Given the description of an element on the screen output the (x, y) to click on. 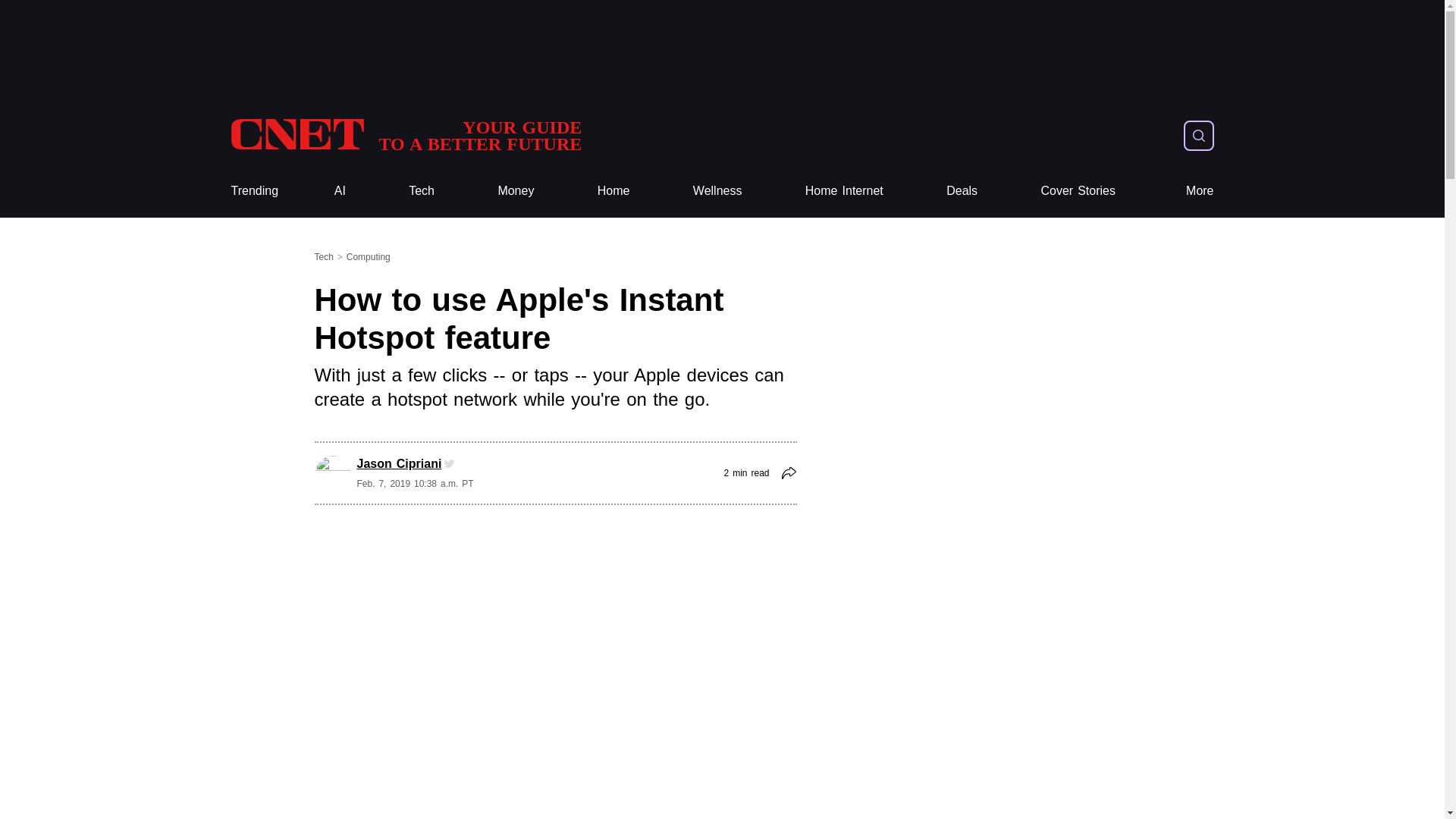
Home Internet (844, 190)
Cover Stories (1078, 190)
AI (340, 190)
CNET (405, 135)
Money (515, 190)
Home (613, 190)
Home (613, 190)
Home Internet (844, 190)
AI (340, 190)
Tech (421, 190)
Trending (254, 190)
Tech (421, 190)
Wellness (717, 190)
Deals (405, 135)
